Given the description of an element on the screen output the (x, y) to click on. 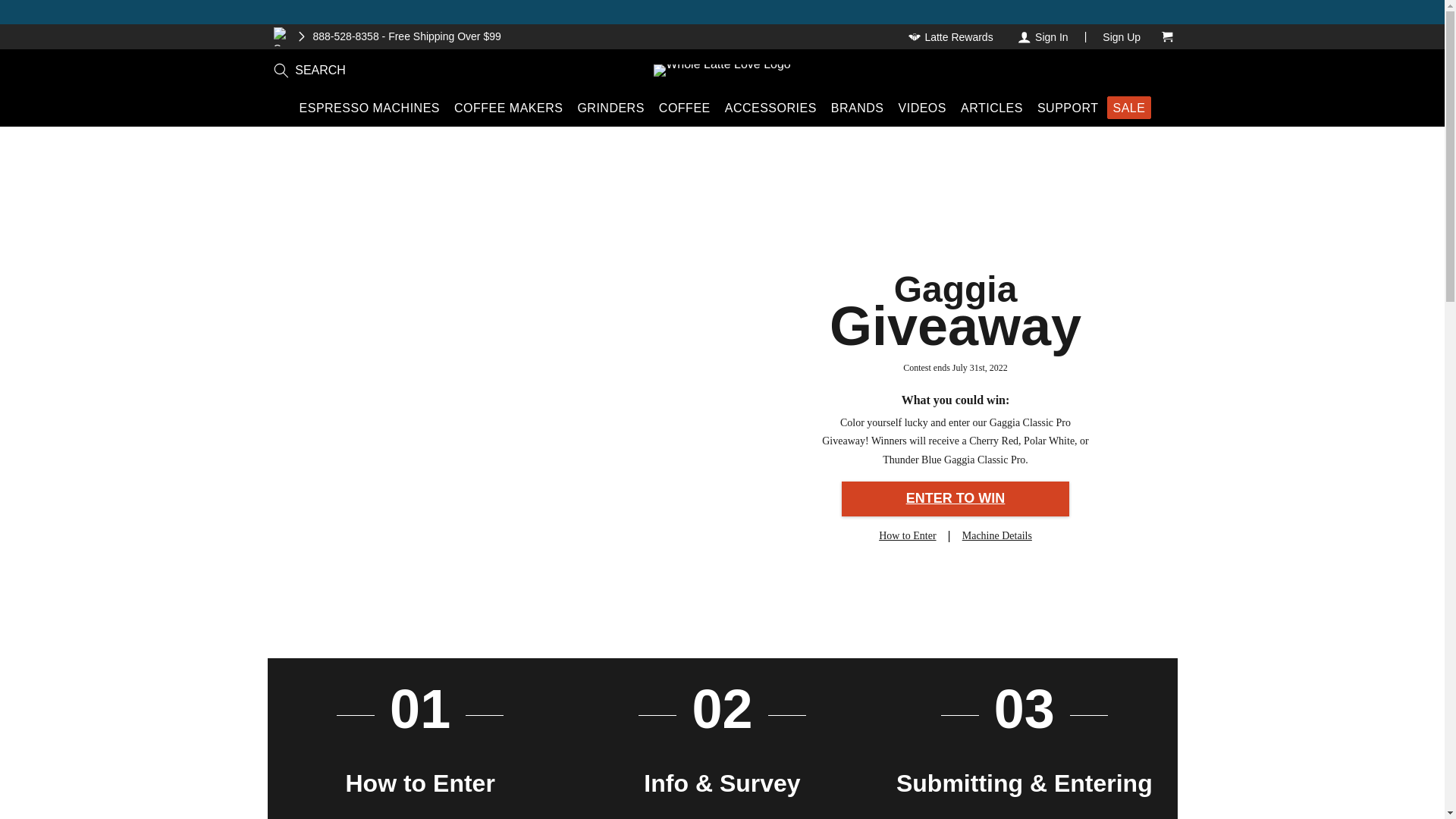
Sign In (1042, 36)
Skip to content (24, 11)
Latte Rewards (952, 36)
Latte Rewards (952, 36)
Sign Up (1120, 36)
